Given the description of an element on the screen output the (x, y) to click on. 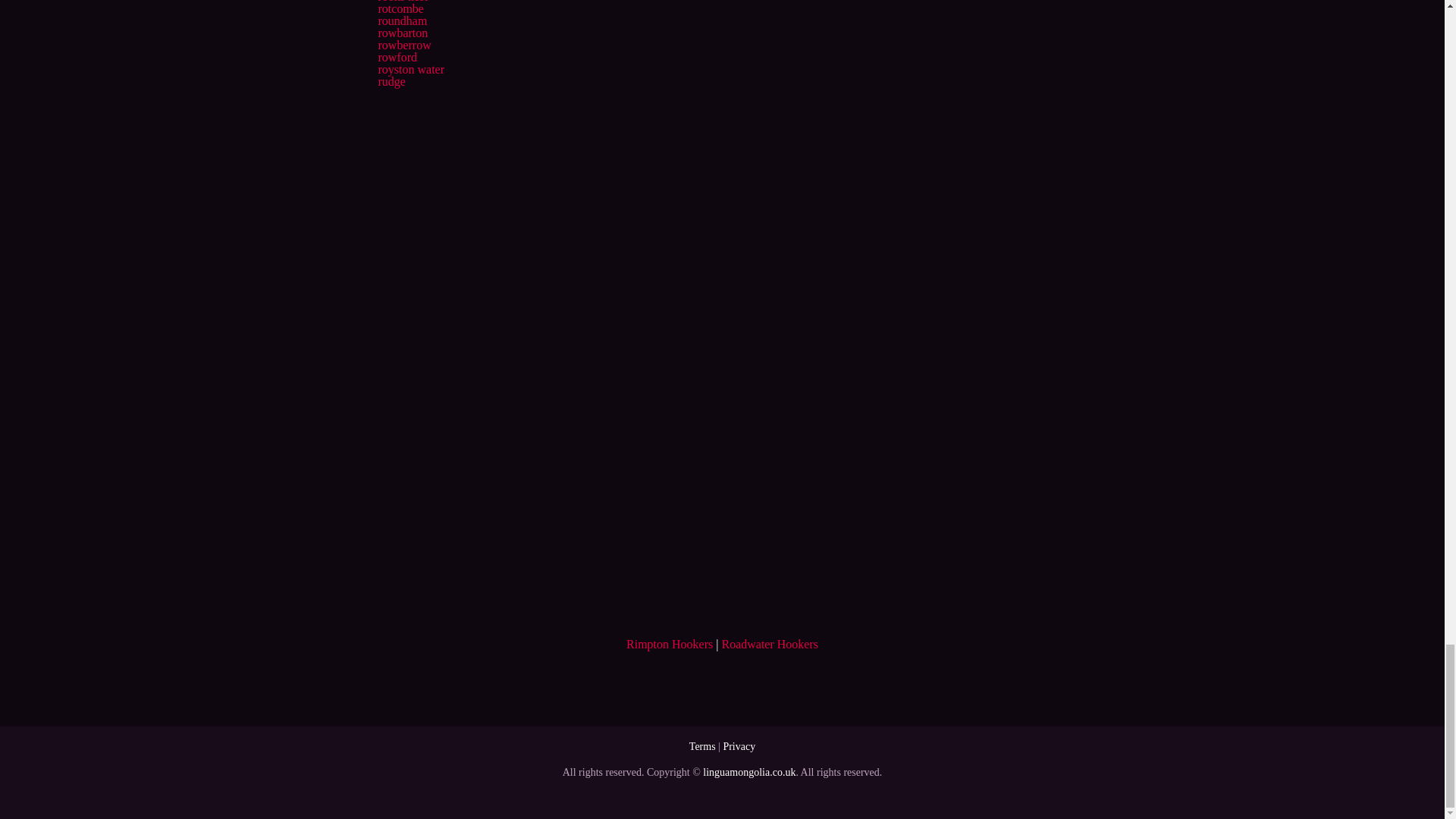
rotcombe (400, 8)
Privacy (738, 746)
rudge (390, 81)
Privacy (738, 746)
rooks nest (401, 1)
rowbarton (402, 32)
roundham (401, 20)
rowford (396, 56)
Roadwater Hookers (769, 644)
royston water (410, 69)
